Given the description of an element on the screen output the (x, y) to click on. 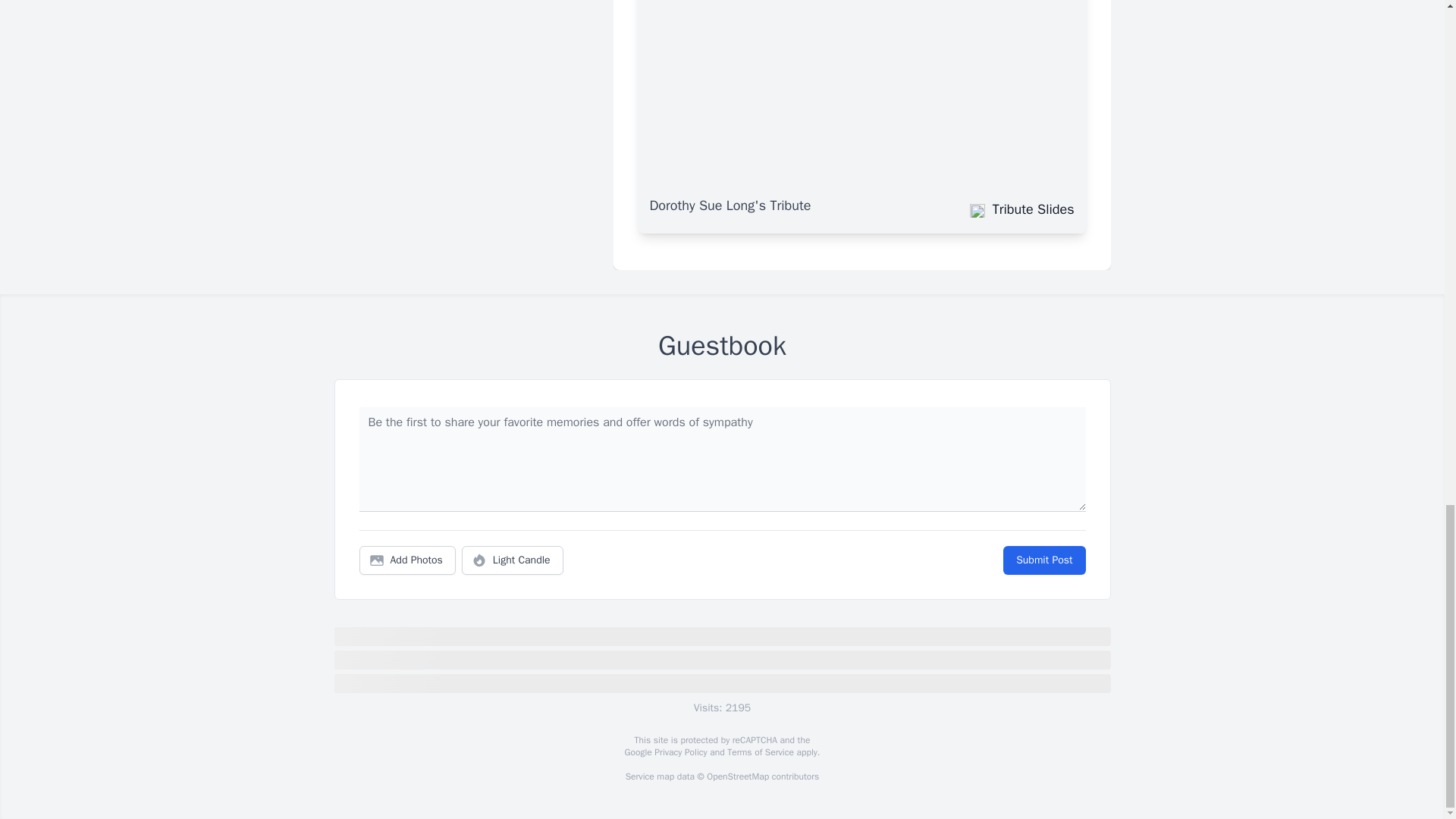
Add Photos (407, 560)
OpenStreetMap (737, 776)
Terms of Service (759, 752)
Submit Post (1043, 560)
Light Candle (512, 560)
Privacy Policy (679, 752)
